Given the description of an element on the screen output the (x, y) to click on. 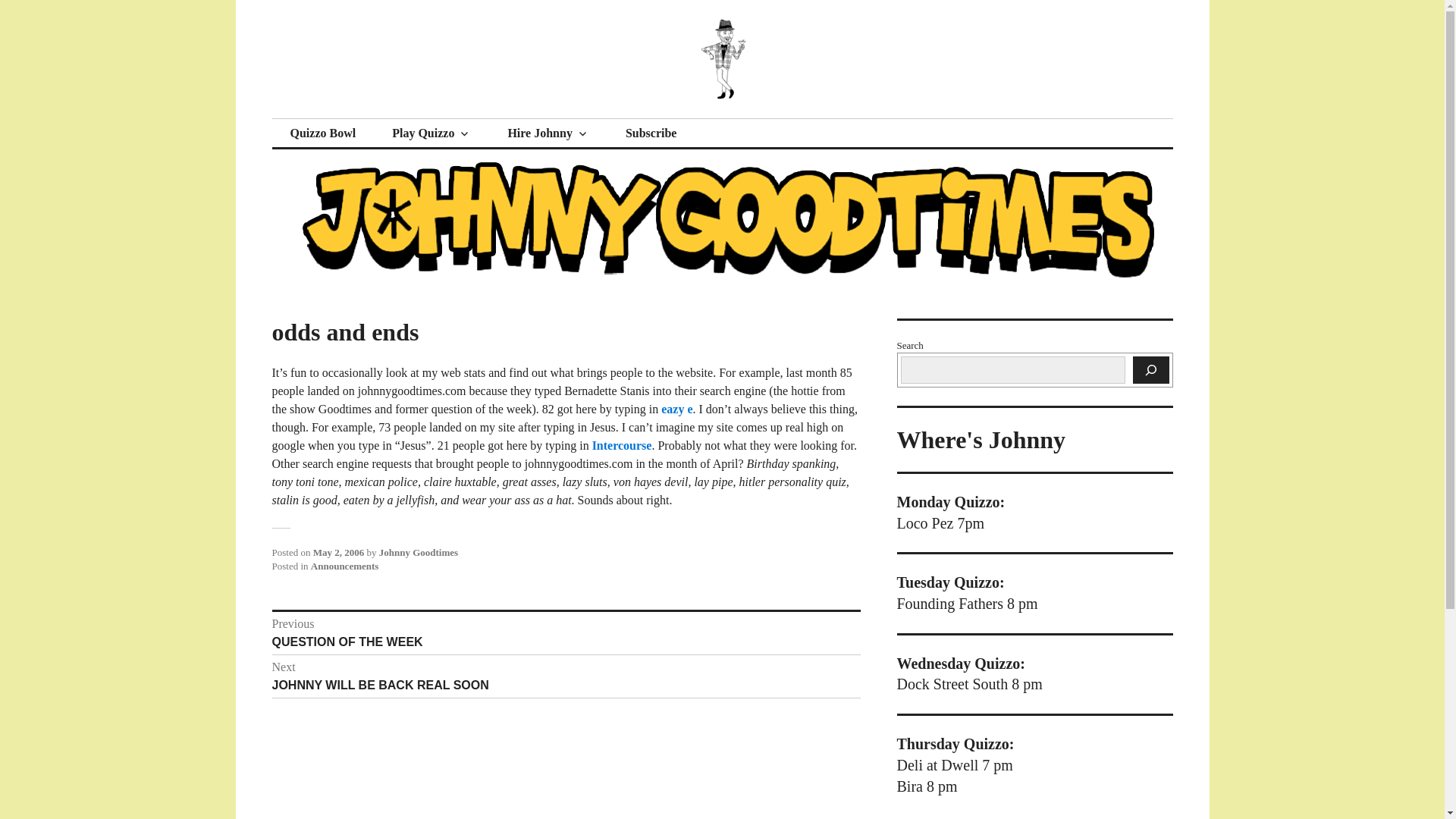
Johnny Goodtimes (392, 117)
Sign up for the Johnny Goodtimes Email Newsletter (651, 133)
Johnny Goodtimes (418, 552)
May 2, 2006 (339, 552)
Subscribe (651, 133)
Announcements (344, 565)
Hire Johnny (565, 633)
Play Quizzo (548, 133)
eazy e (431, 133)
Quizzo Bowl (677, 408)
Intercourse (565, 676)
